Given the description of an element on the screen output the (x, y) to click on. 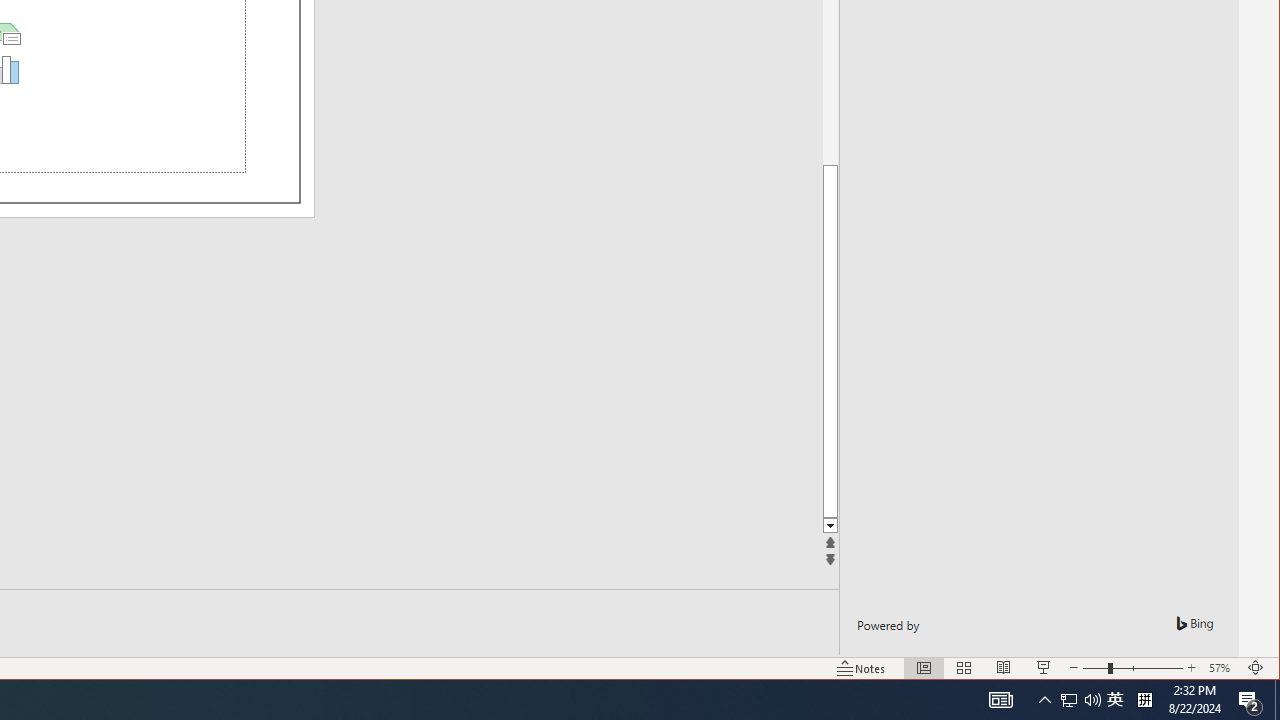
Notification Chevron (1044, 699)
Zoom 57% (1222, 668)
Tray Input Indicator - Chinese (Simplified, China) (1144, 699)
